Given the description of an element on the screen output the (x, y) to click on. 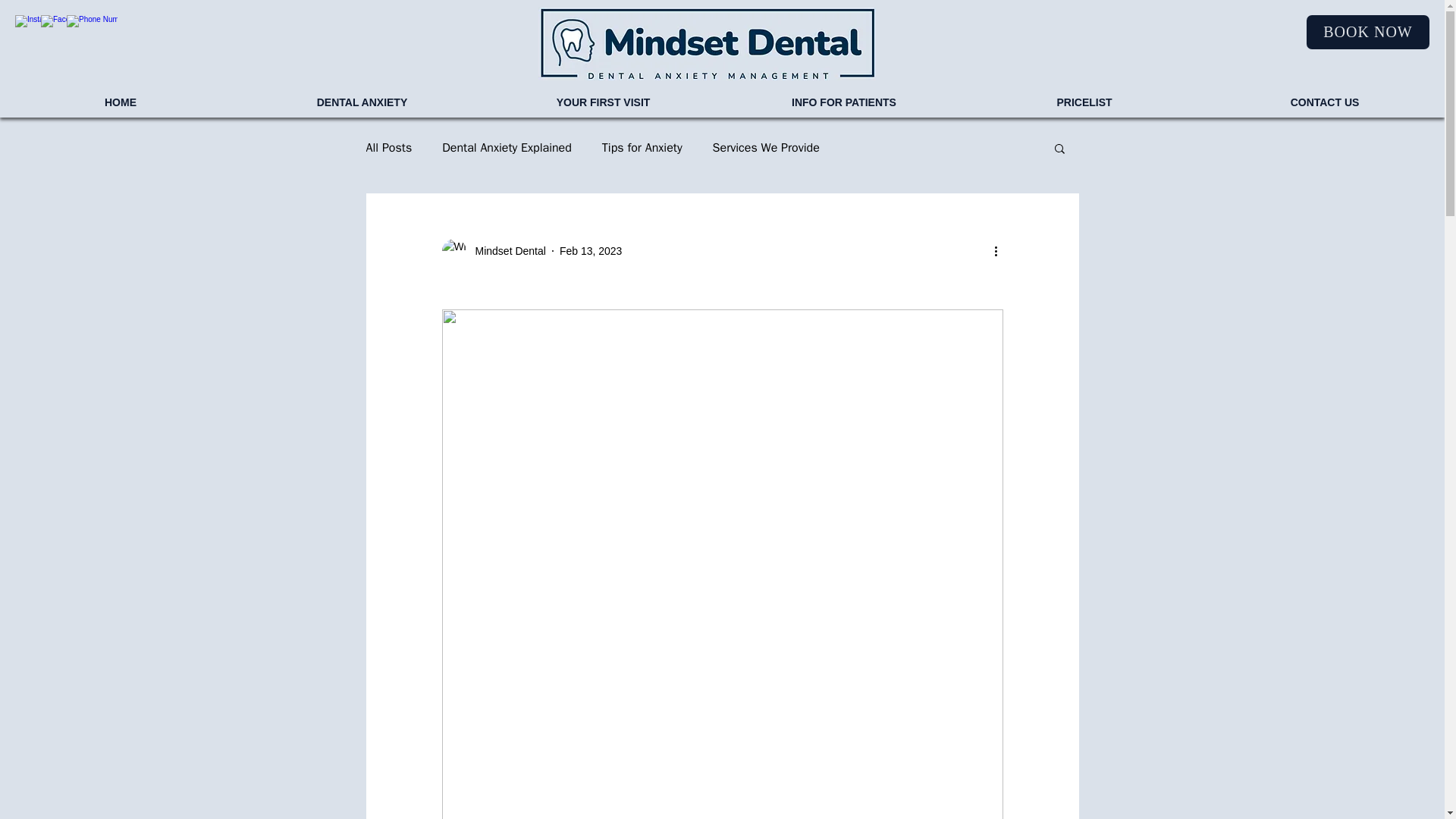
YOUR FIRST VISIT (602, 101)
HOME (120, 101)
All Posts (388, 147)
Services We Provide (766, 147)
Home (707, 43)
BOOK NOW (1367, 32)
INFO FOR PATIENTS (843, 101)
PRICELIST (1083, 101)
Feb 13, 2023 (591, 250)
Mindset Dental (492, 250)
Dental Anxiety Explained (507, 147)
DENTAL ANXIETY (361, 101)
Mindset Dental (504, 250)
Tips for Anxiety (642, 147)
